Given the description of an element on the screen output the (x, y) to click on. 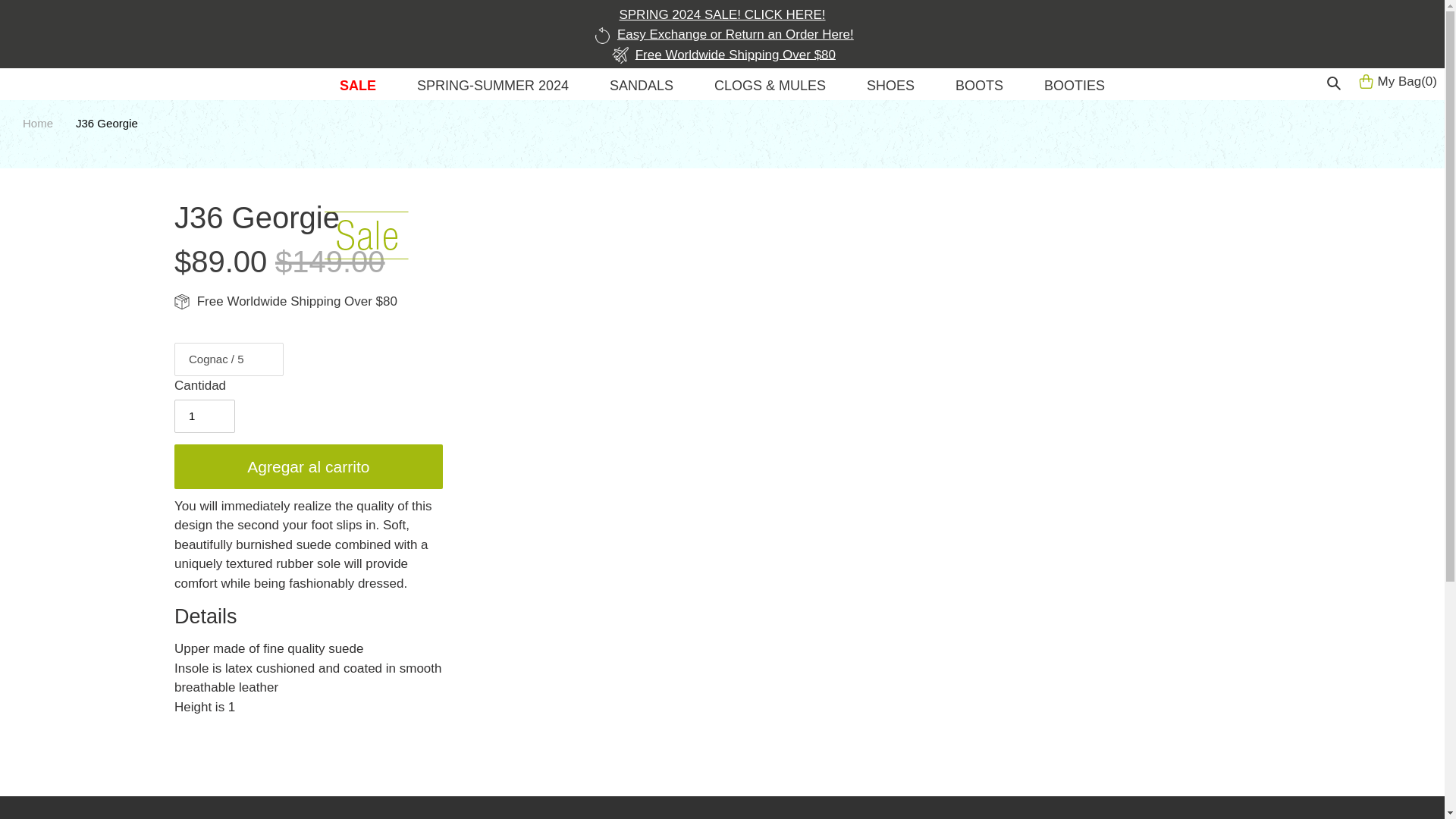
BOOTIES (1074, 87)
1 (204, 416)
SPRING-SUMMER 2024 (492, 87)
SALE (357, 87)
J36 Georgie (106, 123)
Easy Exchange or Return an Order Here! (722, 33)
SANDALS (641, 87)
SHOES (889, 87)
SPRING 2024 SALE! CLICK HERE! (721, 13)
BOOTS (978, 87)
Home (37, 123)
Buscar (1336, 81)
